Given the description of an element on the screen output the (x, y) to click on. 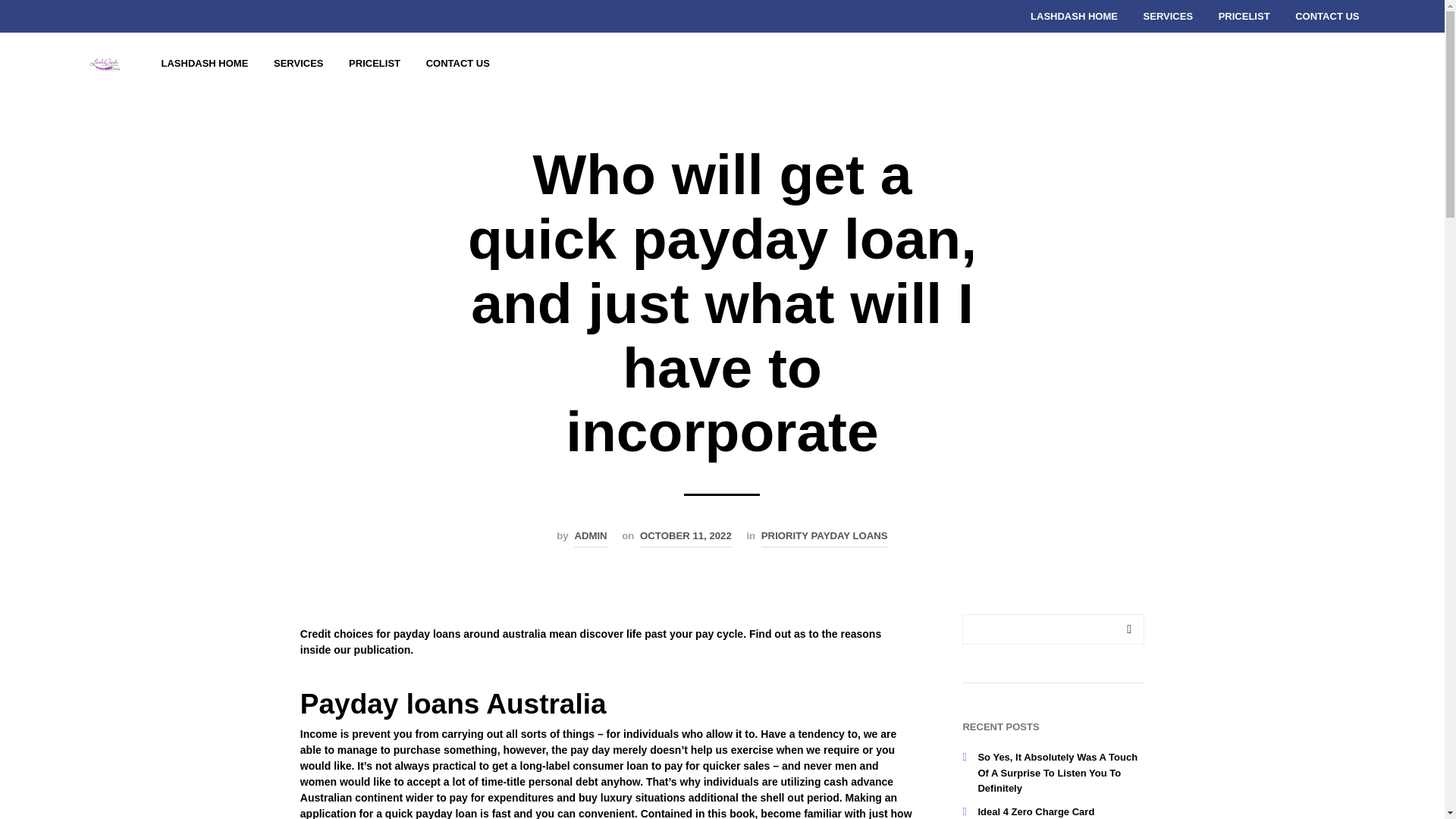
ADMIN (590, 537)
SERVICES (298, 63)
CONTACT US (457, 63)
PRIORITY PAYDAY LOANS (824, 537)
CONTACT US (1327, 16)
Search (1128, 629)
Search (1128, 629)
SERVICES (1168, 16)
Search (1128, 629)
PRICELIST (374, 63)
OCTOBER 11, 2022 (686, 537)
LASHDASH HOME (204, 63)
View all posts by admin (590, 537)
